Given the description of an element on the screen output the (x, y) to click on. 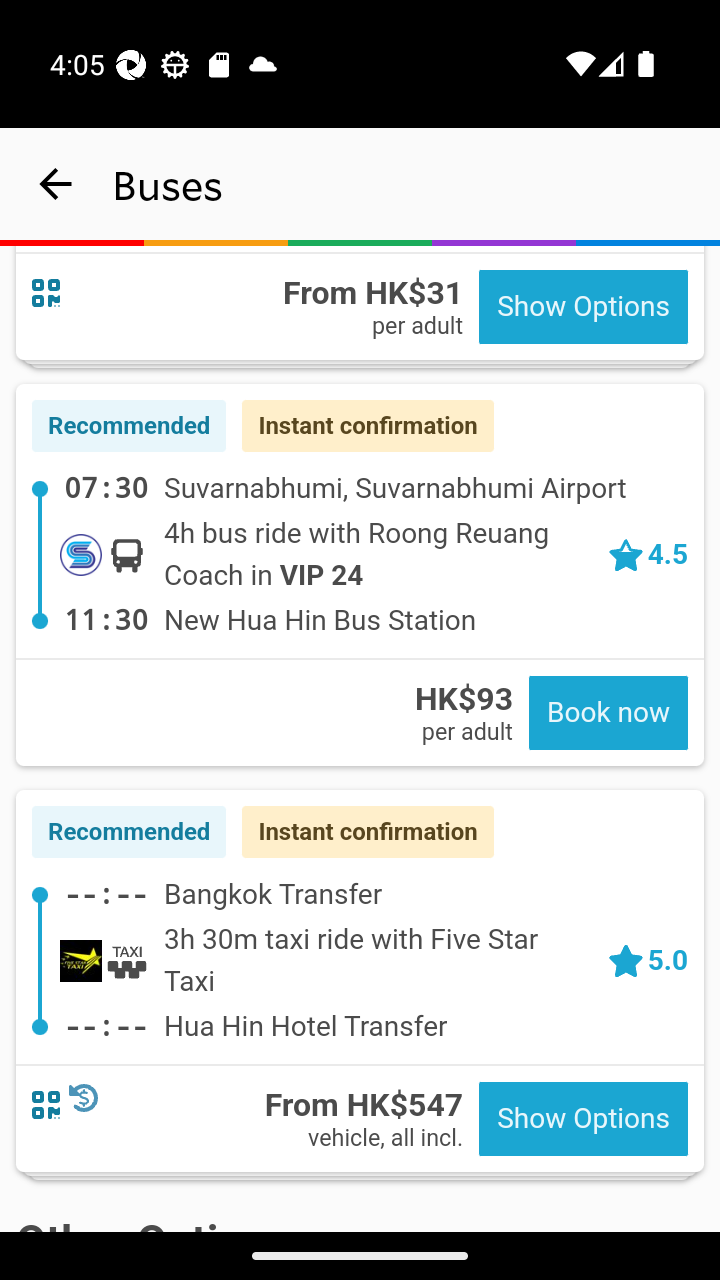
navigation_button (56, 184)
From HK$31 per adult Show Options (359, 303)
Show Options (583, 307)
4.5 (647, 554)
Book now (607, 713)
5.0 (647, 960)
Show Options (583, 1119)
